Given the description of an element on the screen output the (x, y) to click on. 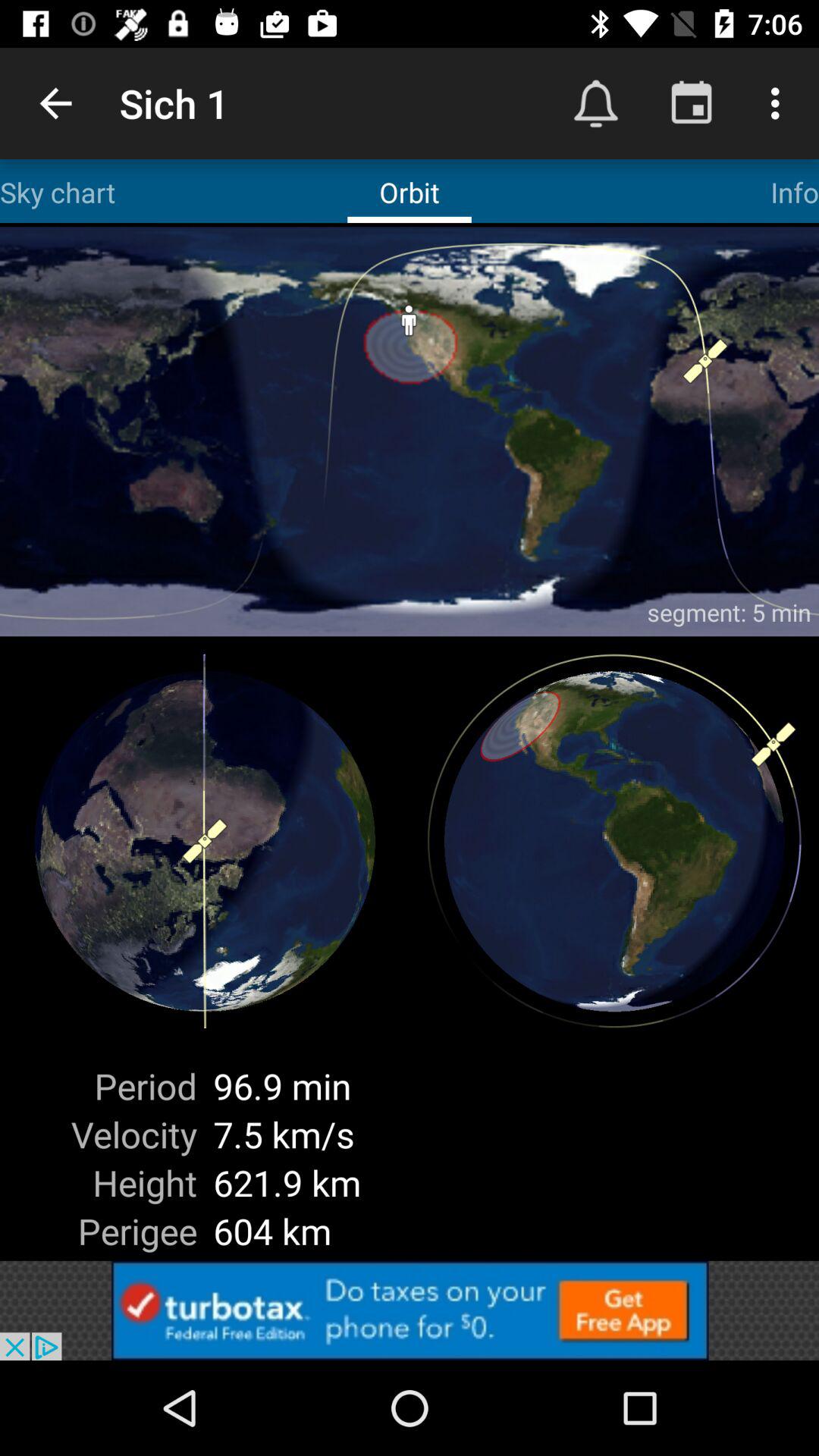
install turbotax (409, 1310)
